Given the description of an element on the screen output the (x, y) to click on. 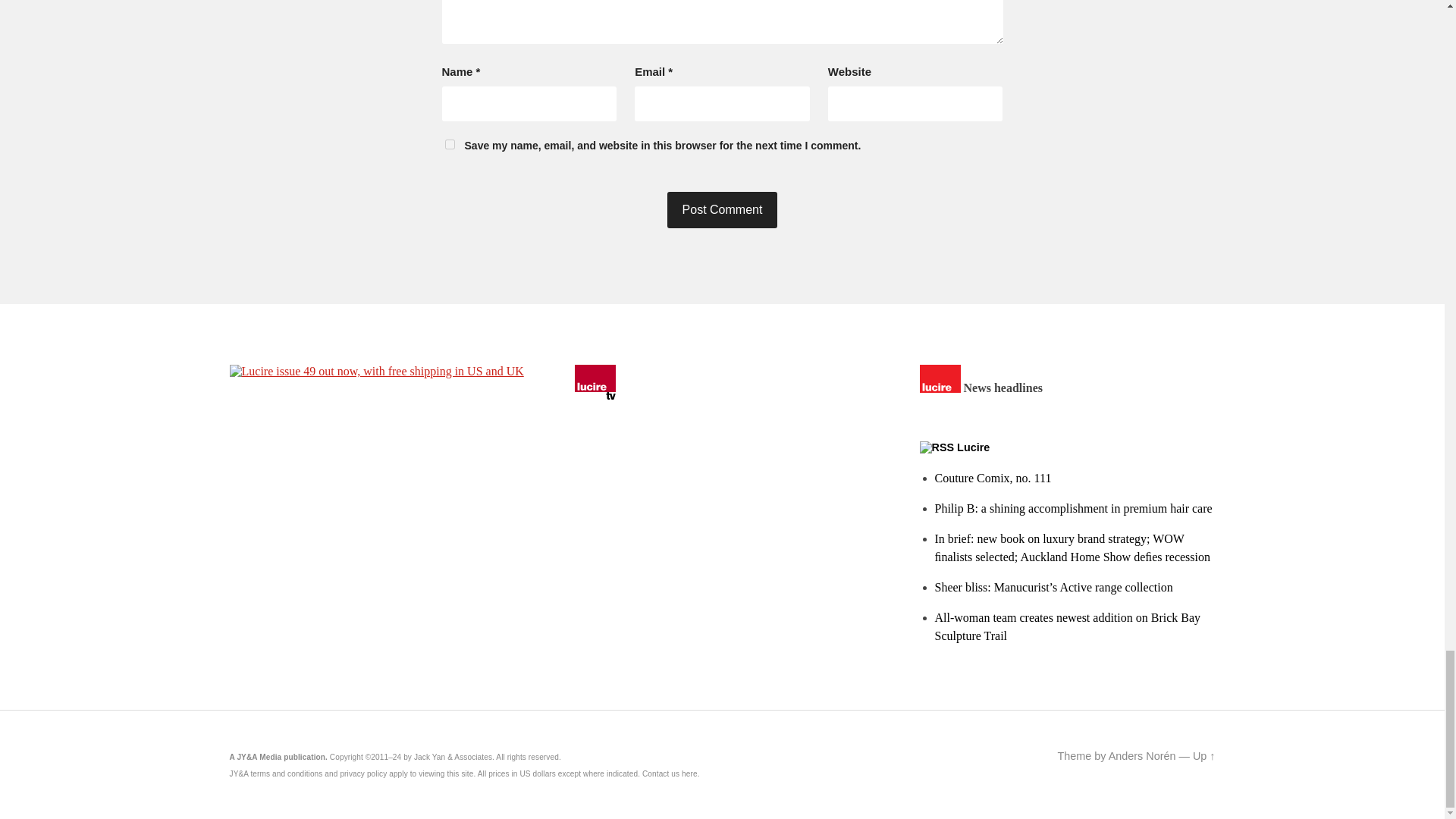
Lucire issue 49 out now, with free shipping in US and UK (375, 371)
Post Comment (721, 209)
yes (449, 144)
